Given the description of an element on the screen output the (x, y) to click on. 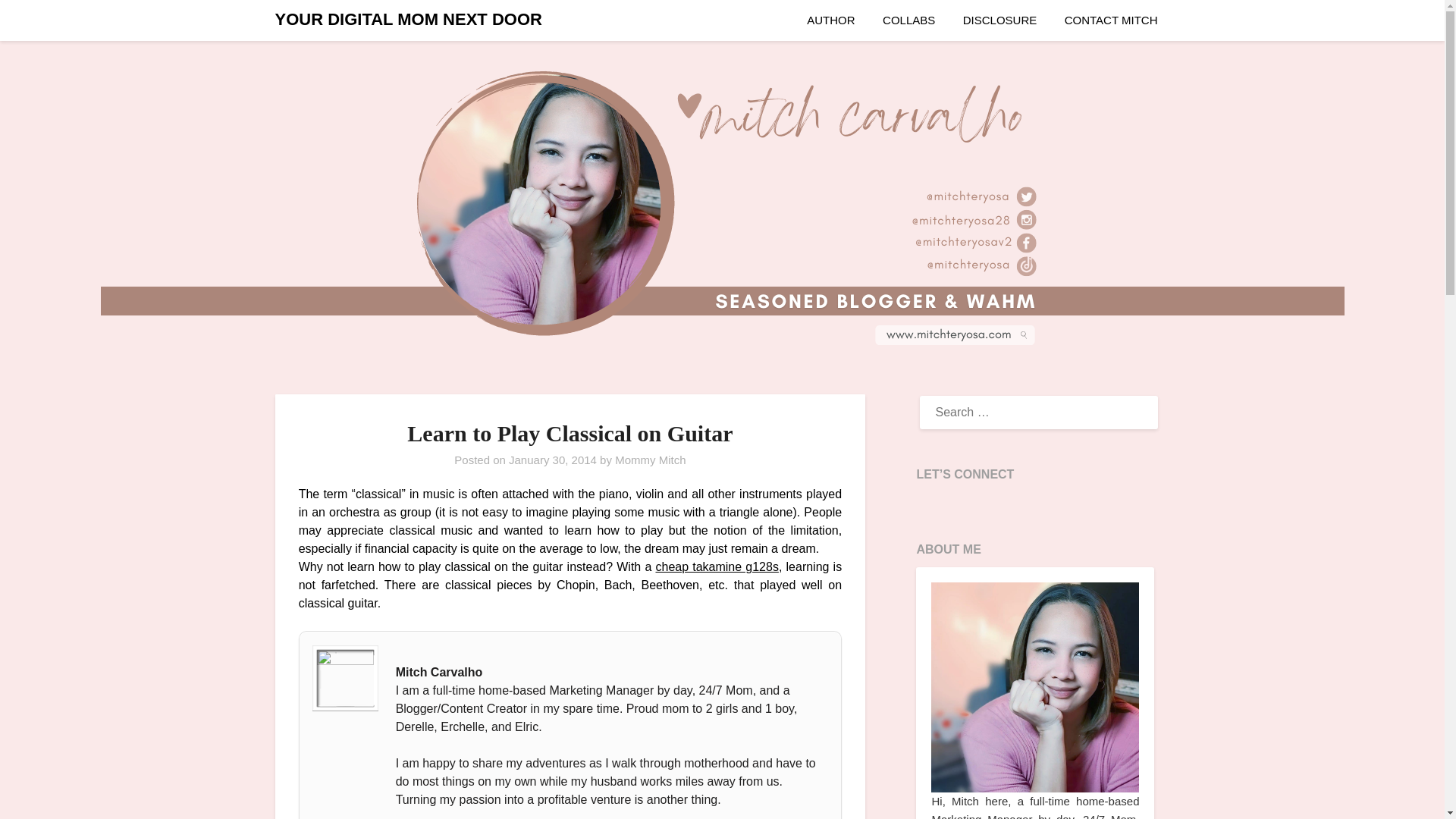
YOUR DIGITAL MOM NEXT DOOR (408, 19)
Search (38, 22)
DISCLOSURE (999, 20)
COLLABS (908, 20)
CONTACT MITCH (1111, 20)
cheap takamine g128s (716, 566)
January 30, 2014 (552, 459)
AUTHOR (830, 20)
Mommy Mitch (649, 459)
